Given the description of an element on the screen output the (x, y) to click on. 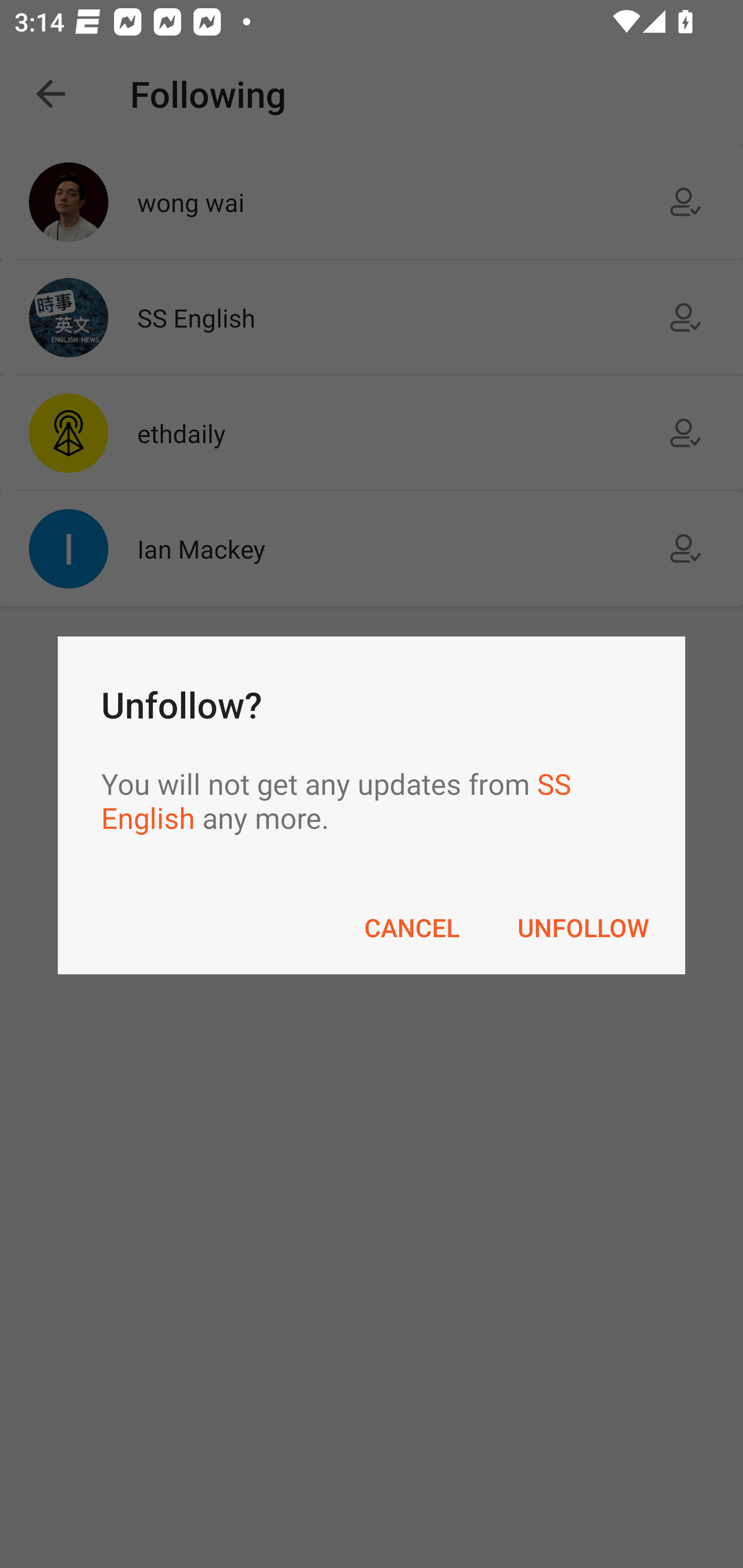
CANCEL (411, 927)
UNFOLLOW (582, 927)
